Given the description of an element on the screen output the (x, y) to click on. 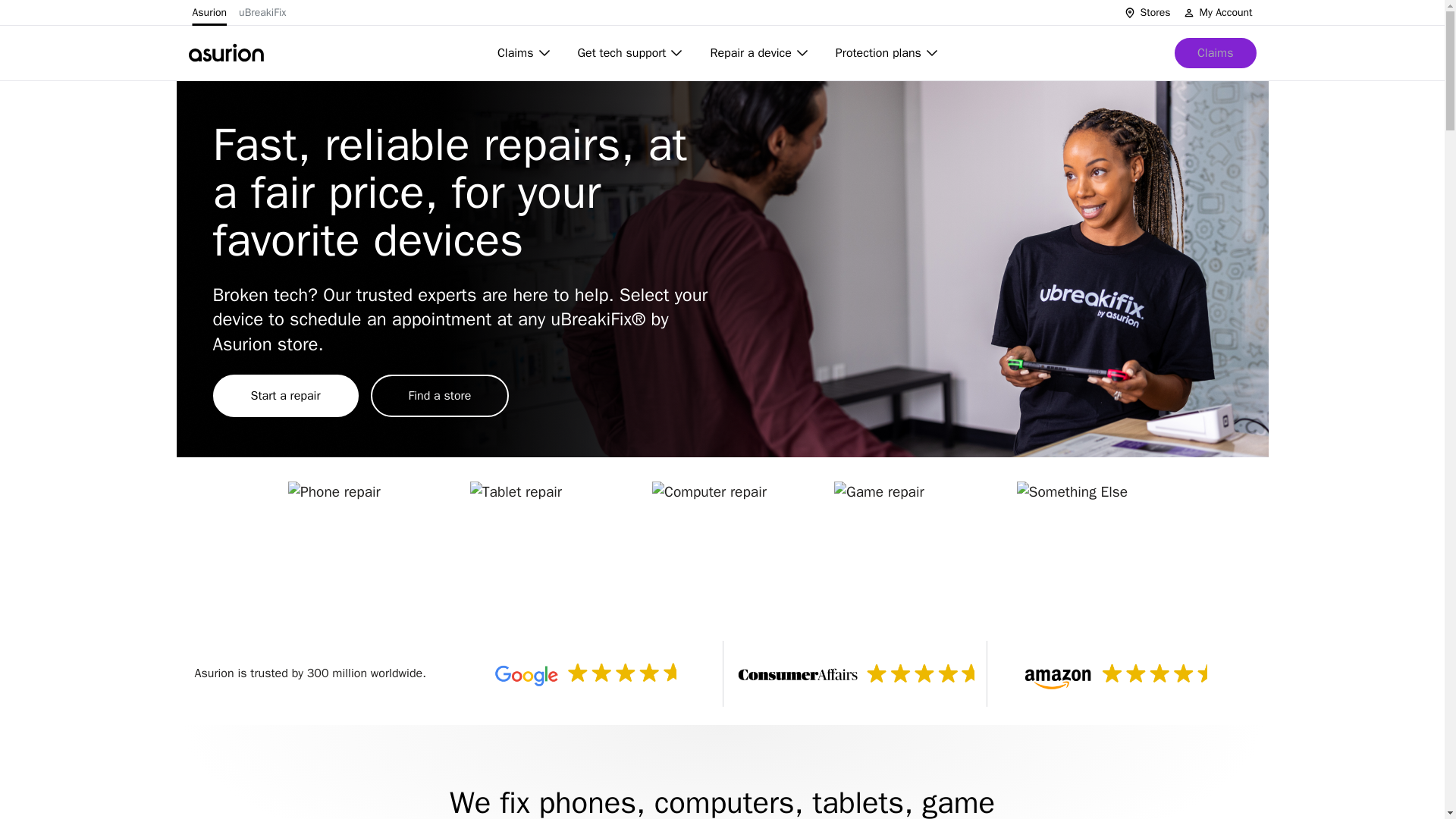
Protection plans (888, 52)
Repair a device (759, 52)
Asurion (209, 12)
Claims (525, 52)
Stores (1147, 12)
My Account (1217, 12)
Get tech support (632, 52)
Claims (1215, 52)
uBreakiFix (261, 12)
